Given the description of an element on the screen output the (x, y) to click on. 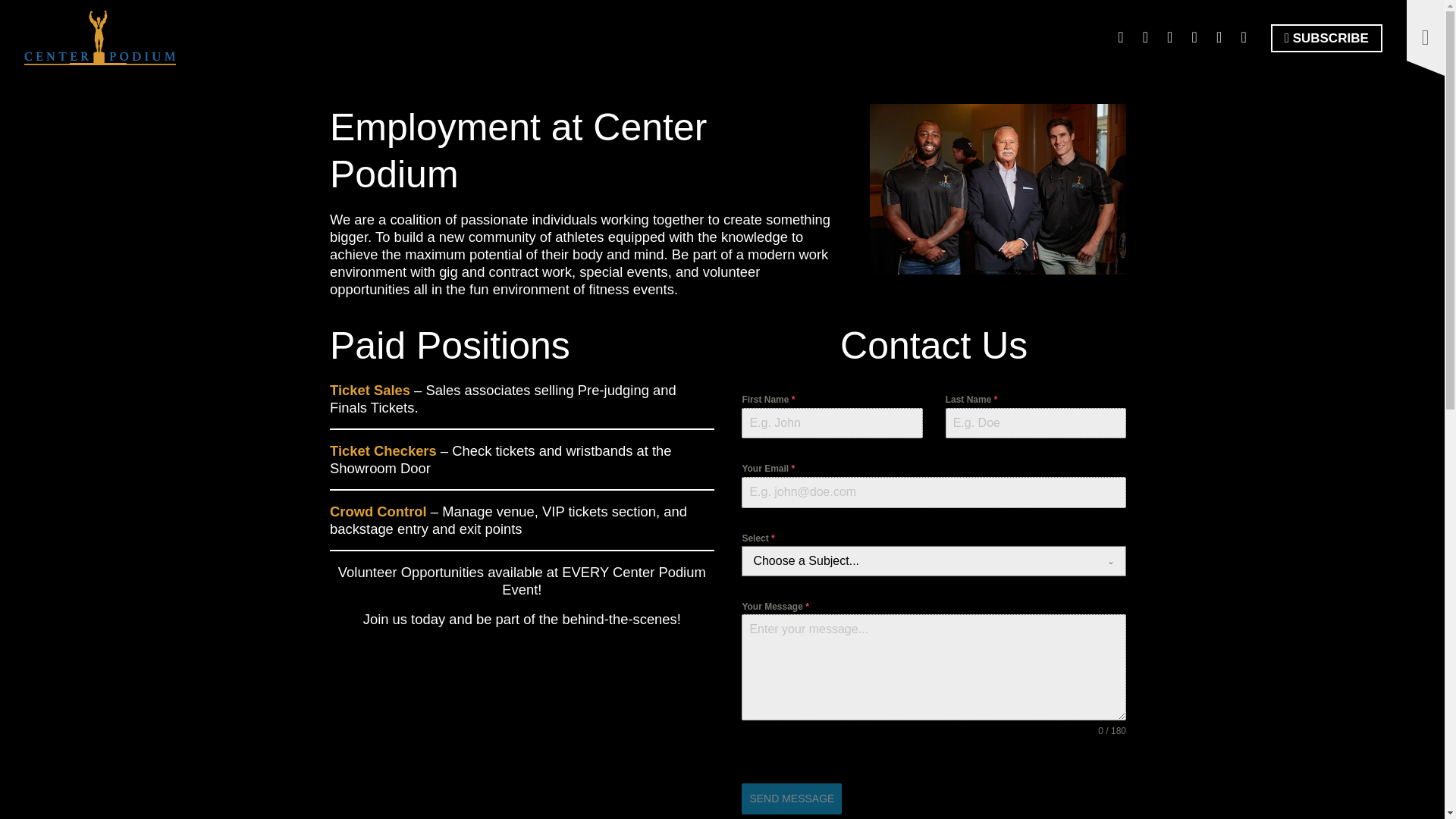
SUBSCRIBE (1326, 38)
Choose a Subject... (919, 561)
SEND MESSAGE (791, 798)
